Given the description of an element on the screen output the (x, y) to click on. 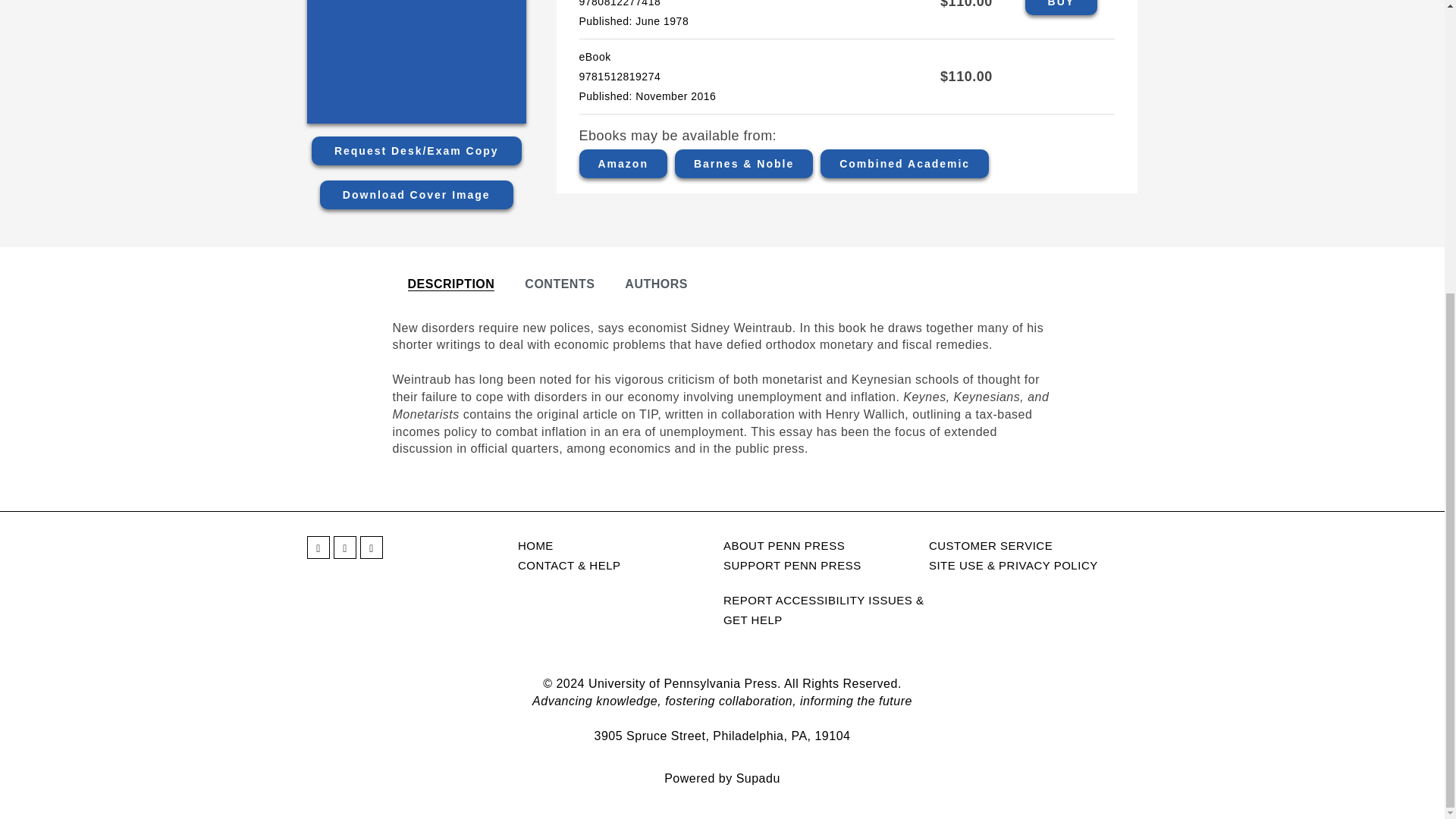
Amazon (622, 163)
Follow us on Facebook (318, 547)
Follow us on Instagram (370, 547)
Combined Academic (904, 163)
Hardcover (1061, 7)
